Given the description of an element on the screen output the (x, y) to click on. 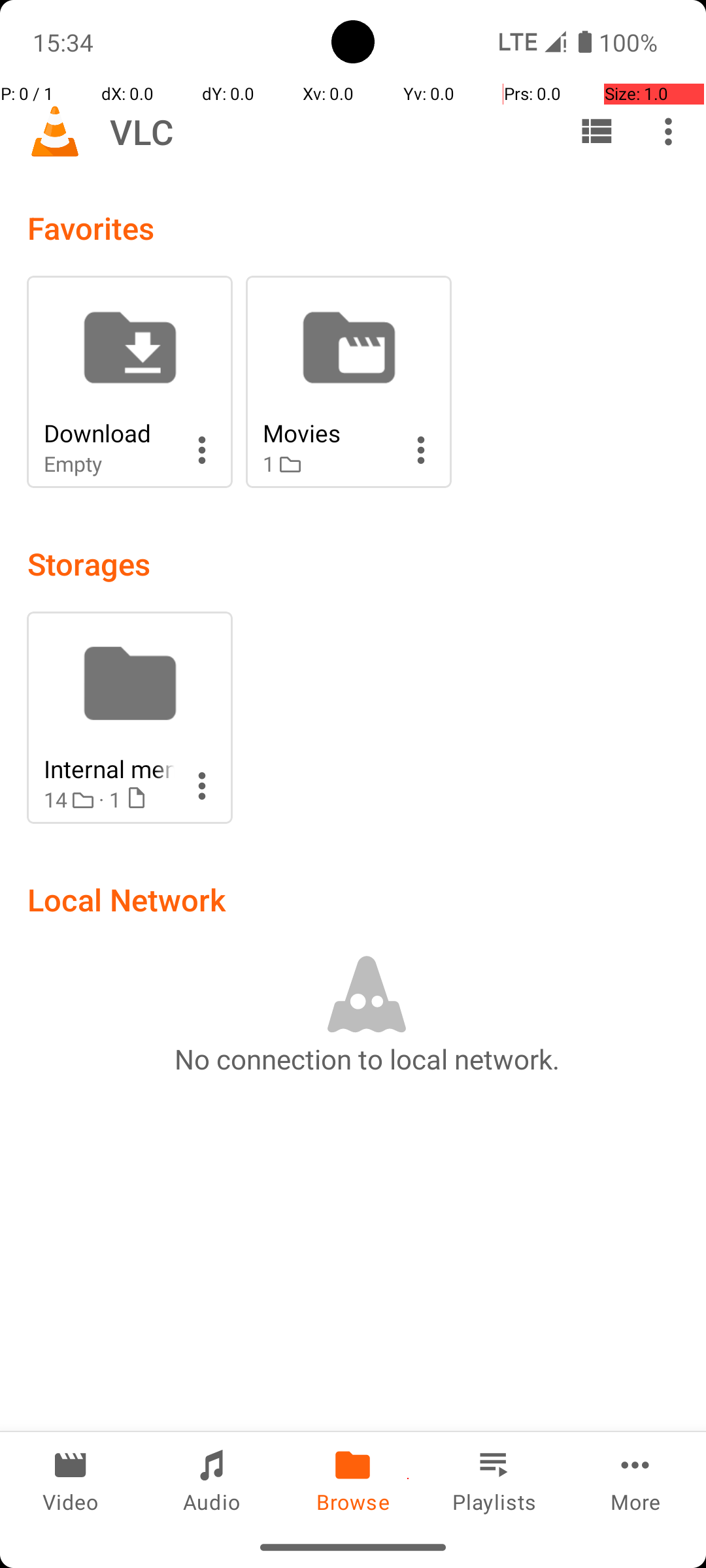
Display in list Element type: android.widget.TextView (595, 131)
Storages Element type: android.widget.TextView (88, 563)
Local Network Element type: android.widget.TextView (126, 898)
No connection to local network. Element type: android.widget.TextView (366, 1058)
Favorite: Download, Empty Element type: androidx.cardview.widget.CardView (129, 381)
Favorite: Movies, 1 subfolder Element type: androidx.cardview.widget.CardView (348, 381)
Folder: Internal memory, 14 subfolders, 1 media file Element type: androidx.cardview.widget.CardView (129, 717)
Empty Element type: android.widget.TextView (108, 463)
1 §*§ Element type: android.widget.TextView (327, 463)
14 §*§ · 1 *§* Element type: android.widget.TextView (108, 799)
